Given the description of an element on the screen output the (x, y) to click on. 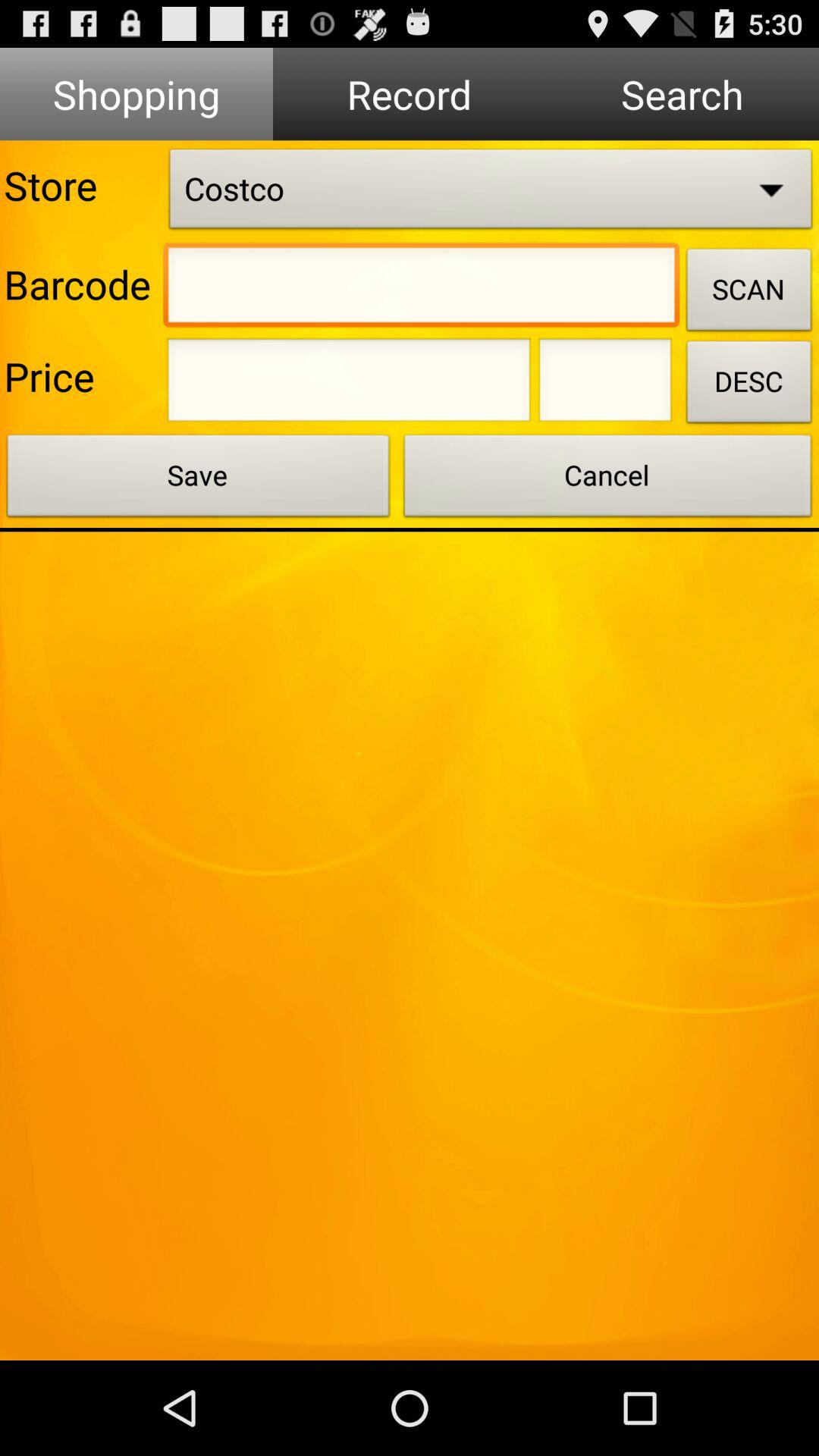
price pega (348, 384)
